Given the description of an element on the screen output the (x, y) to click on. 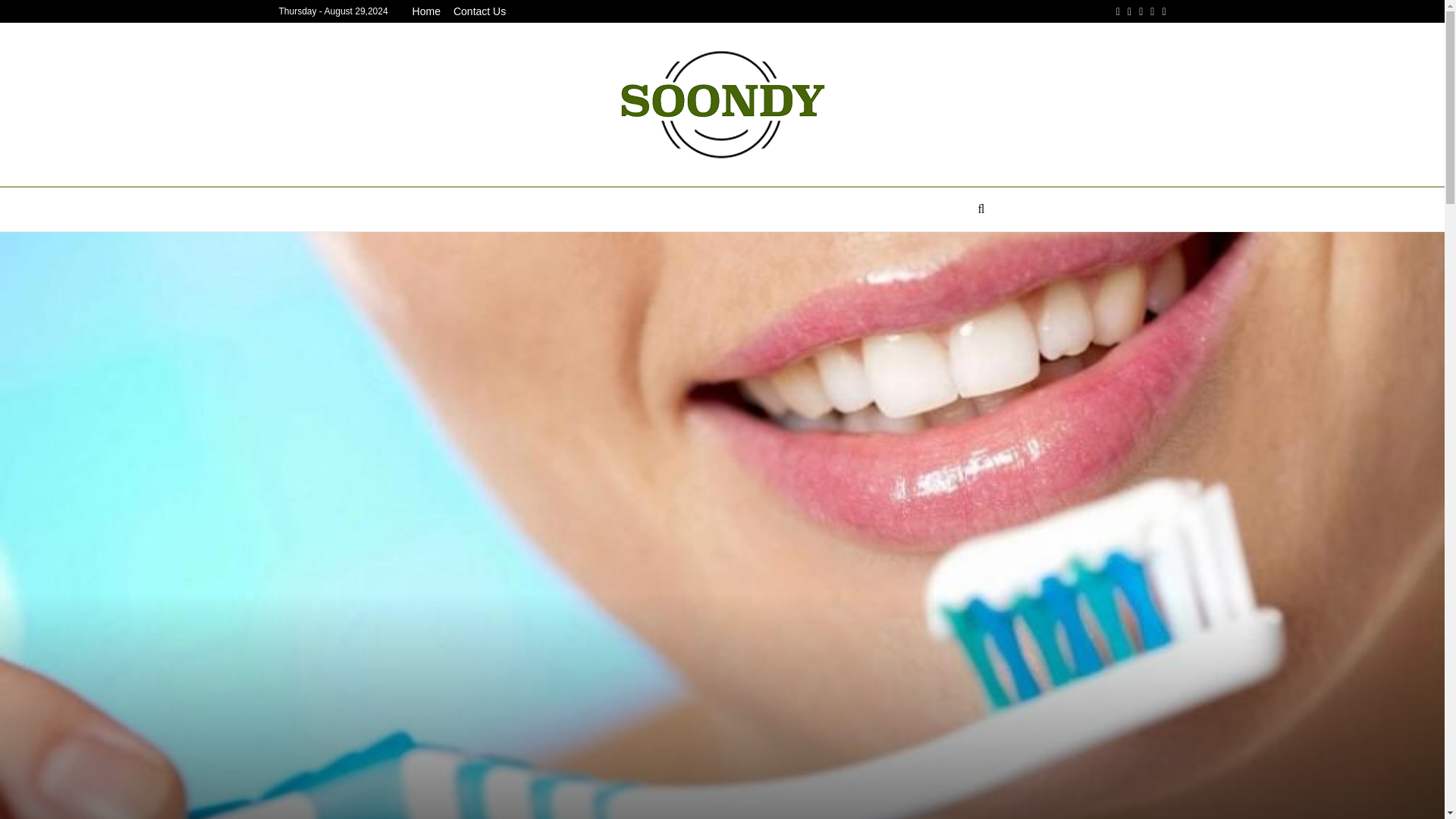
BUSINESS (729, 208)
FOOD (941, 208)
HOME (882, 208)
Contact Us (478, 11)
SHOPPING (811, 208)
TECHNOLOGY (637, 208)
AUTO (488, 208)
HEALTH (551, 208)
Home (426, 11)
